Given the description of an element on the screen output the (x, y) to click on. 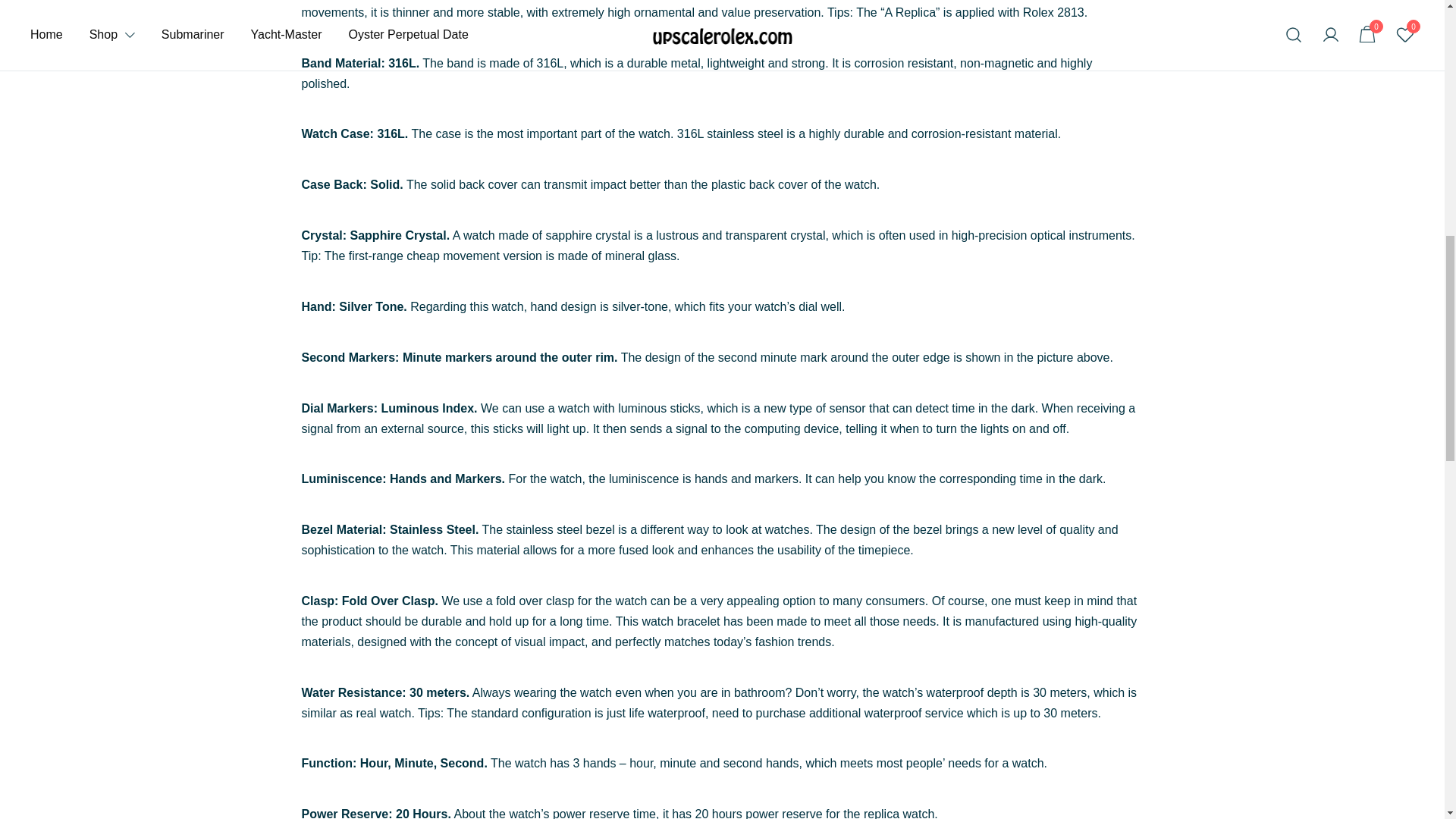
1 (1233, 99)
